Given the description of an element on the screen output the (x, y) to click on. 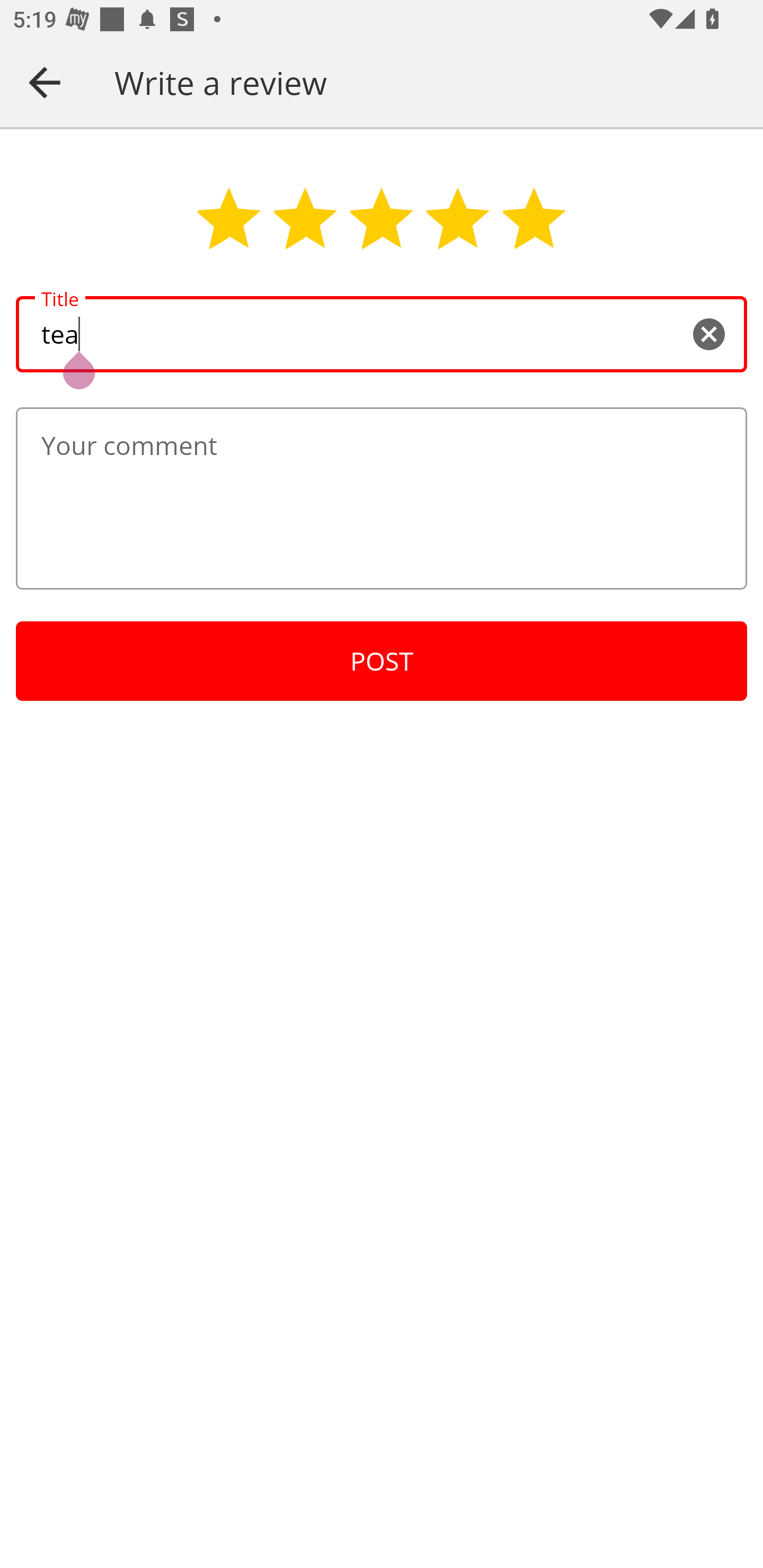
Navigate up (44, 82)
tea (381, 334)
Clear text (708, 334)
Your comment (381, 498)
POST (381, 660)
